Given the description of an element on the screen output the (x, y) to click on. 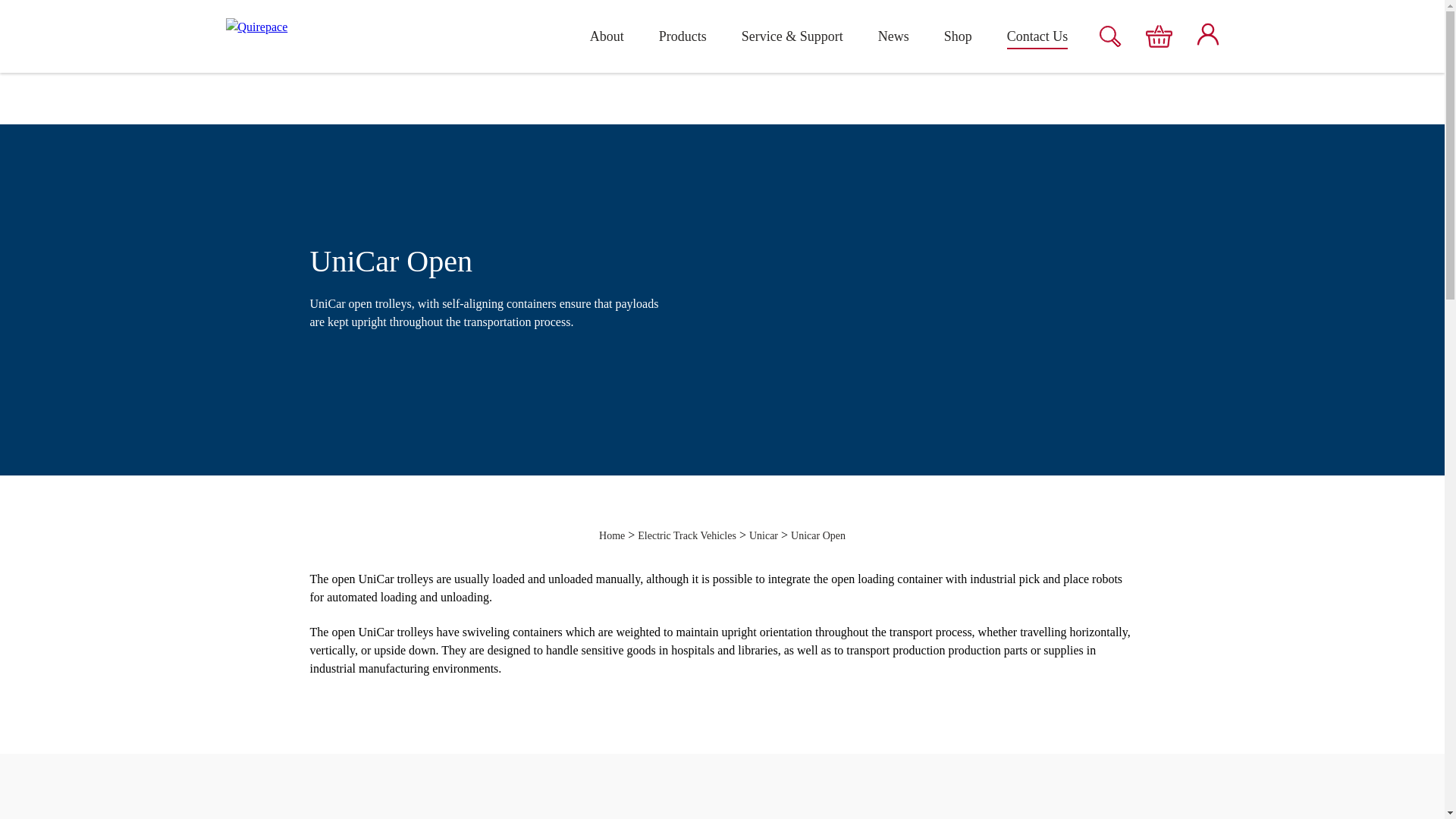
Products (682, 36)
About (607, 36)
